Given the description of an element on the screen output the (x, y) to click on. 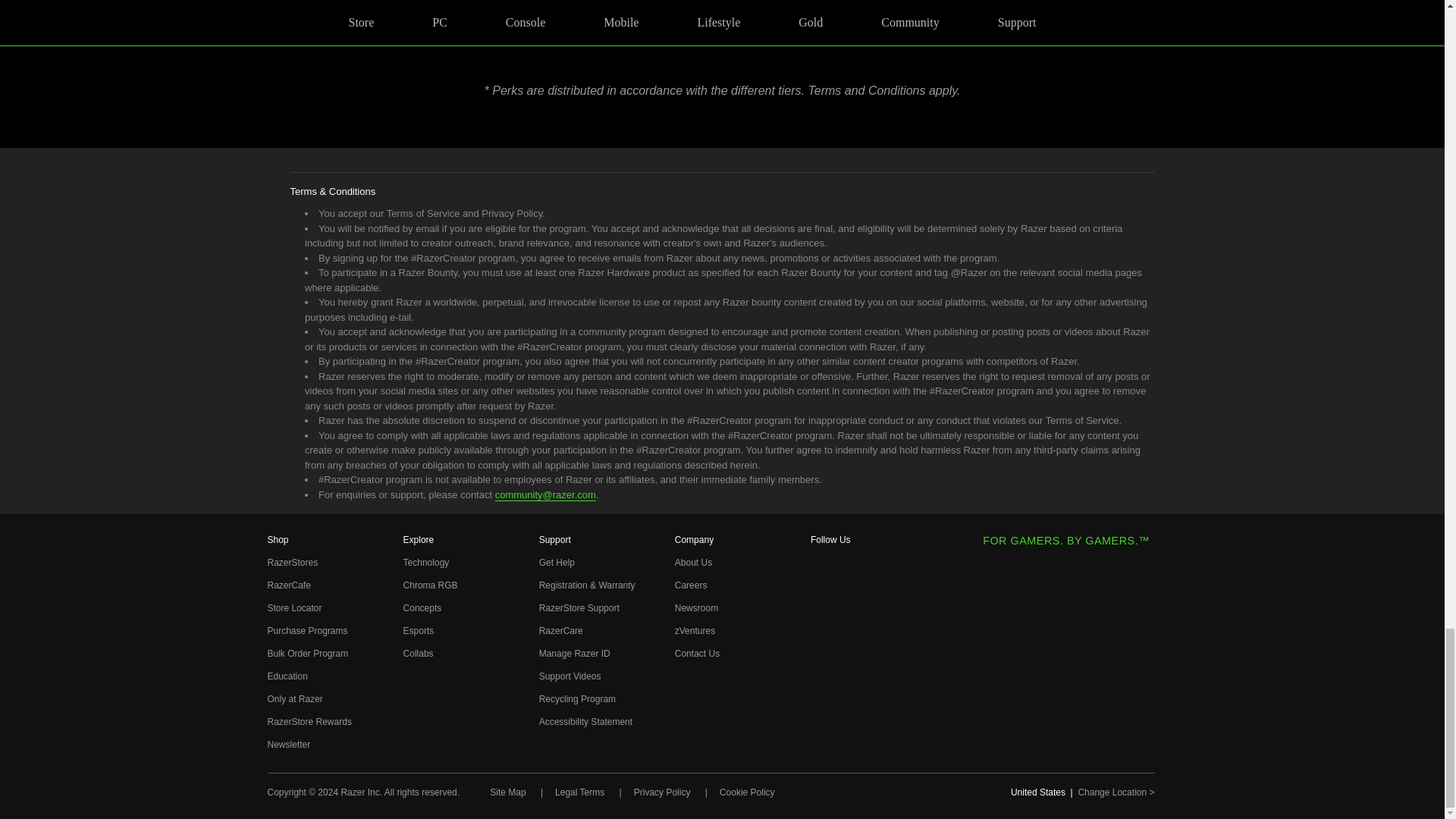
Facebook (820, 566)
TikTok (820, 690)
X (820, 640)
Threads (820, 616)
YouTube (820, 666)
Twitch (820, 716)
Instagram (820, 590)
Discord (820, 741)
